Given the description of an element on the screen output the (x, y) to click on. 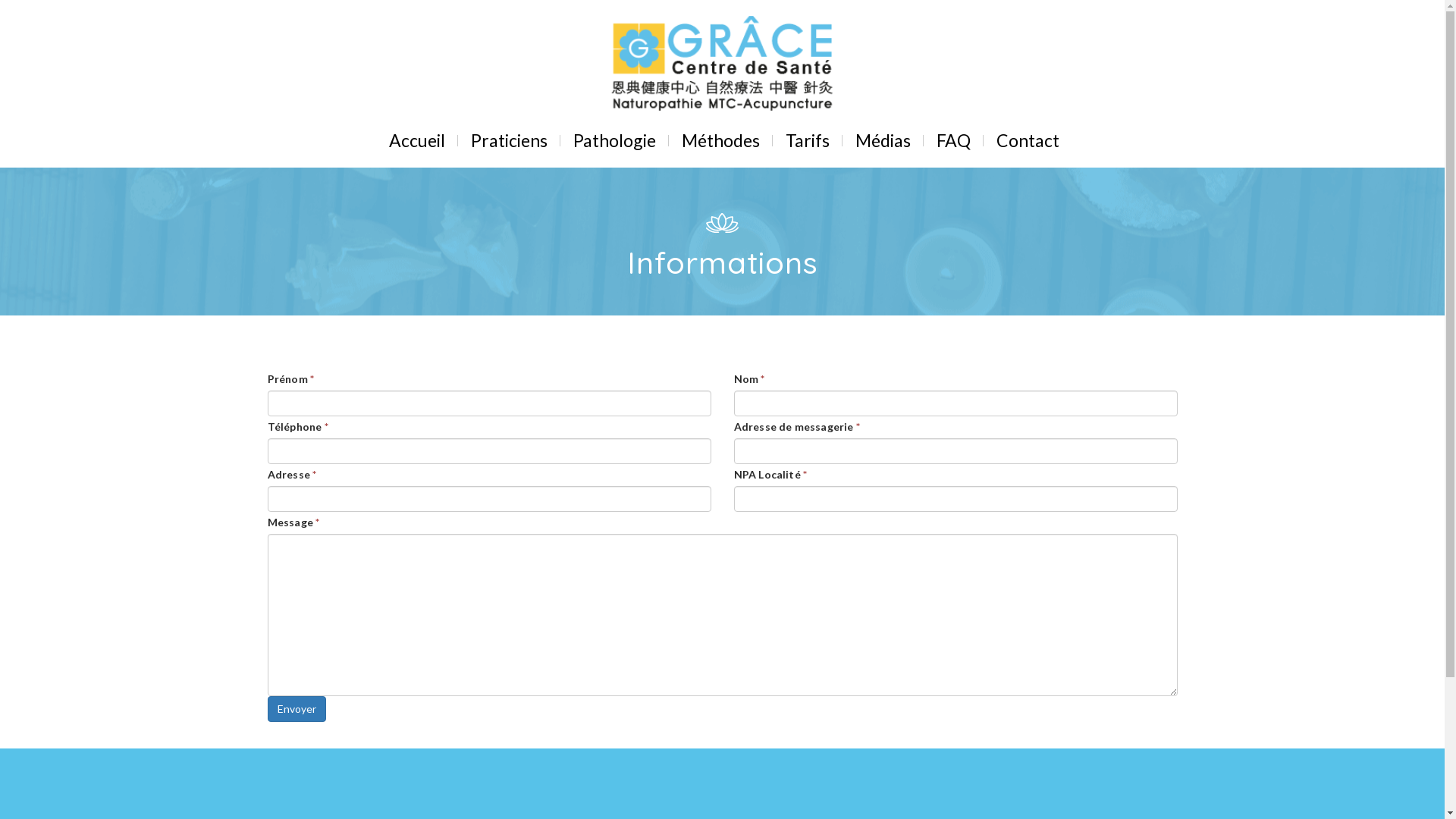
Envoyer Element type: text (295, 708)
Tarifs Element type: text (806, 140)
Pathologie Element type: text (613, 140)
Accueil Element type: text (416, 140)
Praticiens Element type: text (508, 140)
Contact Element type: text (1027, 140)
FAQ Element type: text (953, 140)
